Given the description of an element on the screen output the (x, y) to click on. 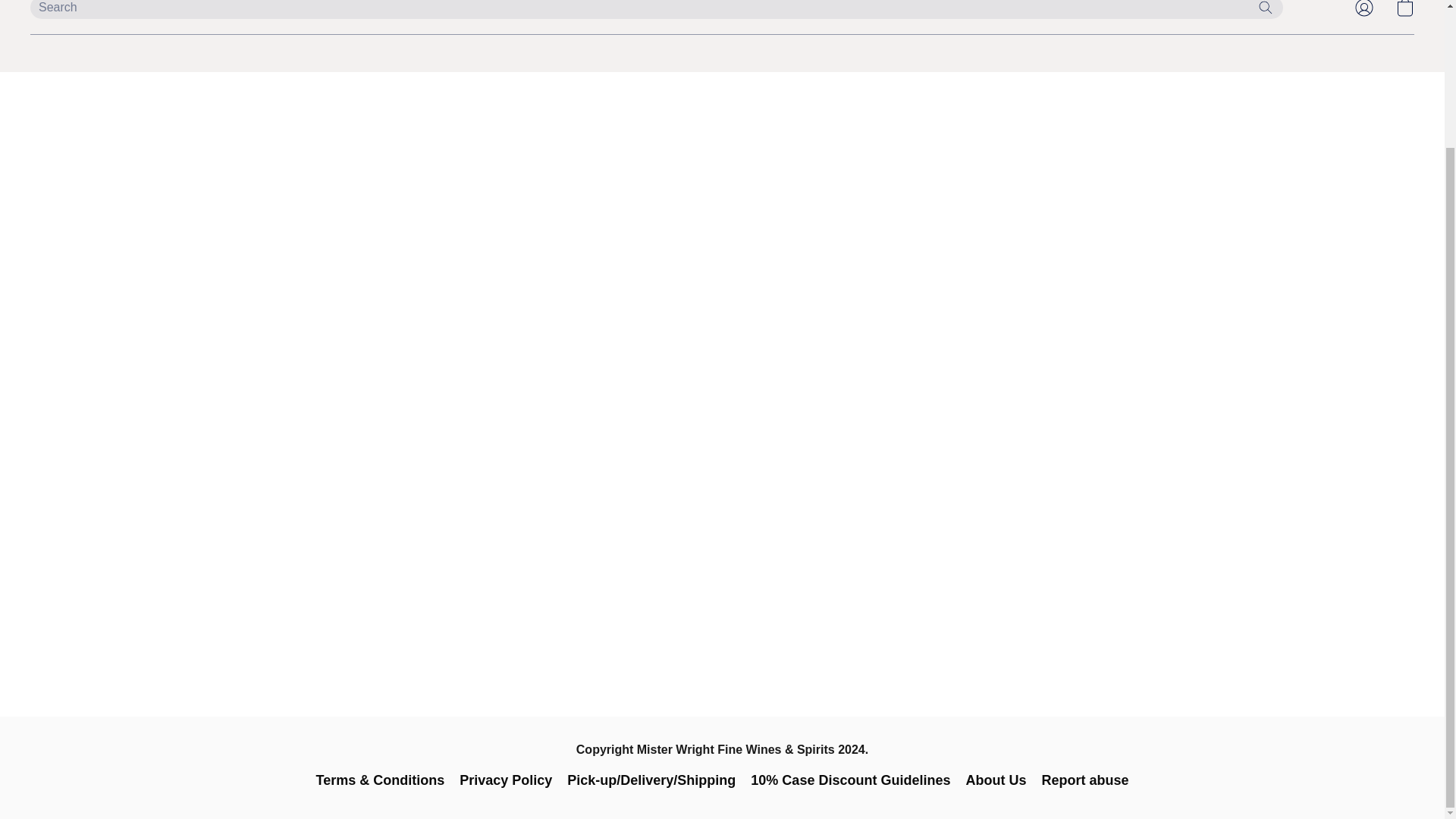
Privacy Policy (505, 780)
About Us (995, 780)
Report abuse (1084, 780)
Go to your shopping cart (1404, 12)
